Given the description of an element on the screen output the (x, y) to click on. 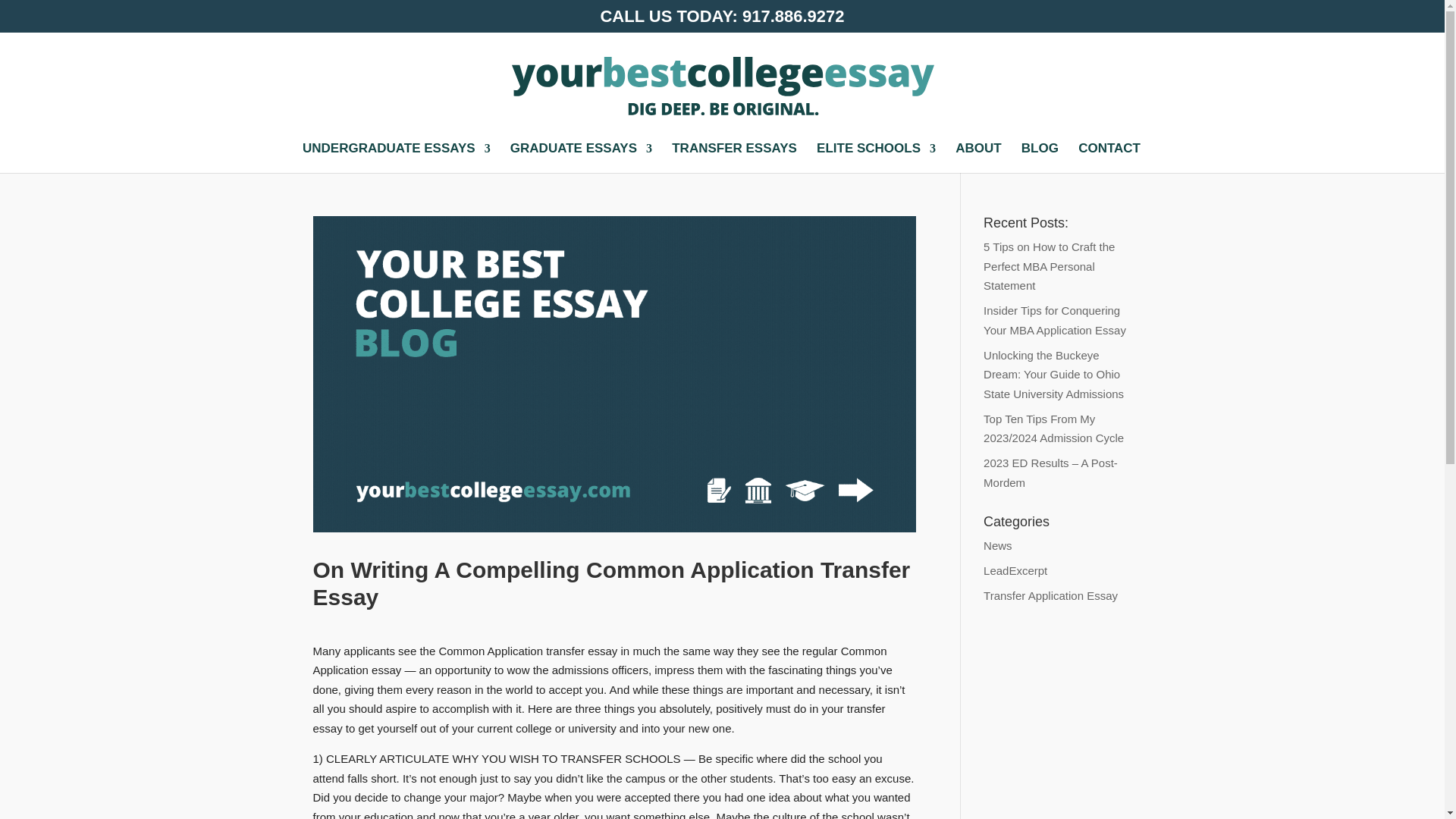
GRADUATE ESSAYS (581, 157)
ELITE SCHOOLS (876, 157)
5 Tips on How to Craft the Perfect MBA Personal Statement (1049, 265)
UNDERGRADUATE ESSAYS (396, 157)
917.886.9272 (793, 15)
Insider Tips for Conquering Your MBA Application Essay (1054, 319)
BLOG (1040, 157)
ABOUT (978, 157)
TRANSFER ESSAYS (733, 157)
